Given the description of an element on the screen output the (x, y) to click on. 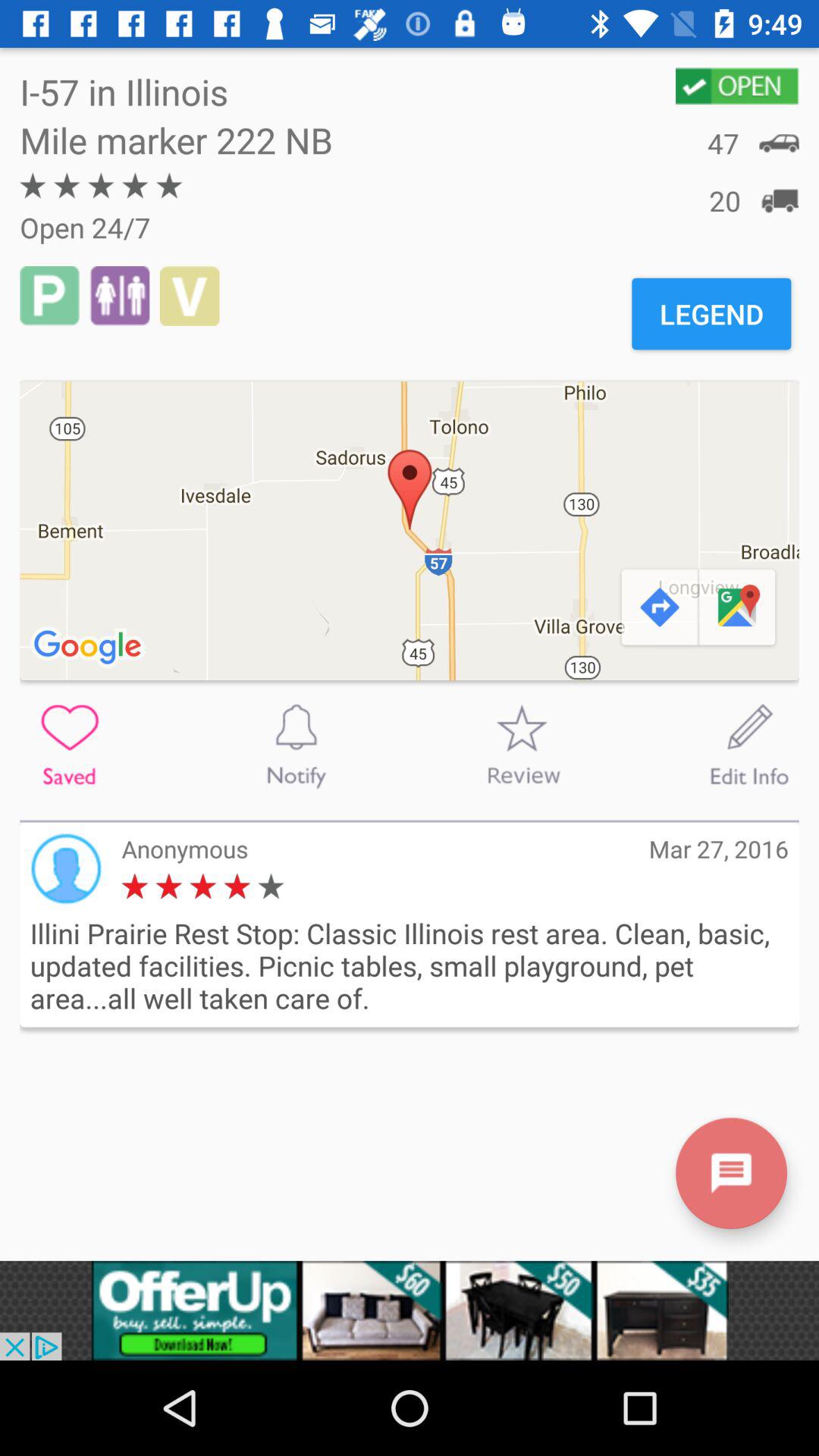
turn on notification (295, 744)
